Given the description of an element on the screen output the (x, y) to click on. 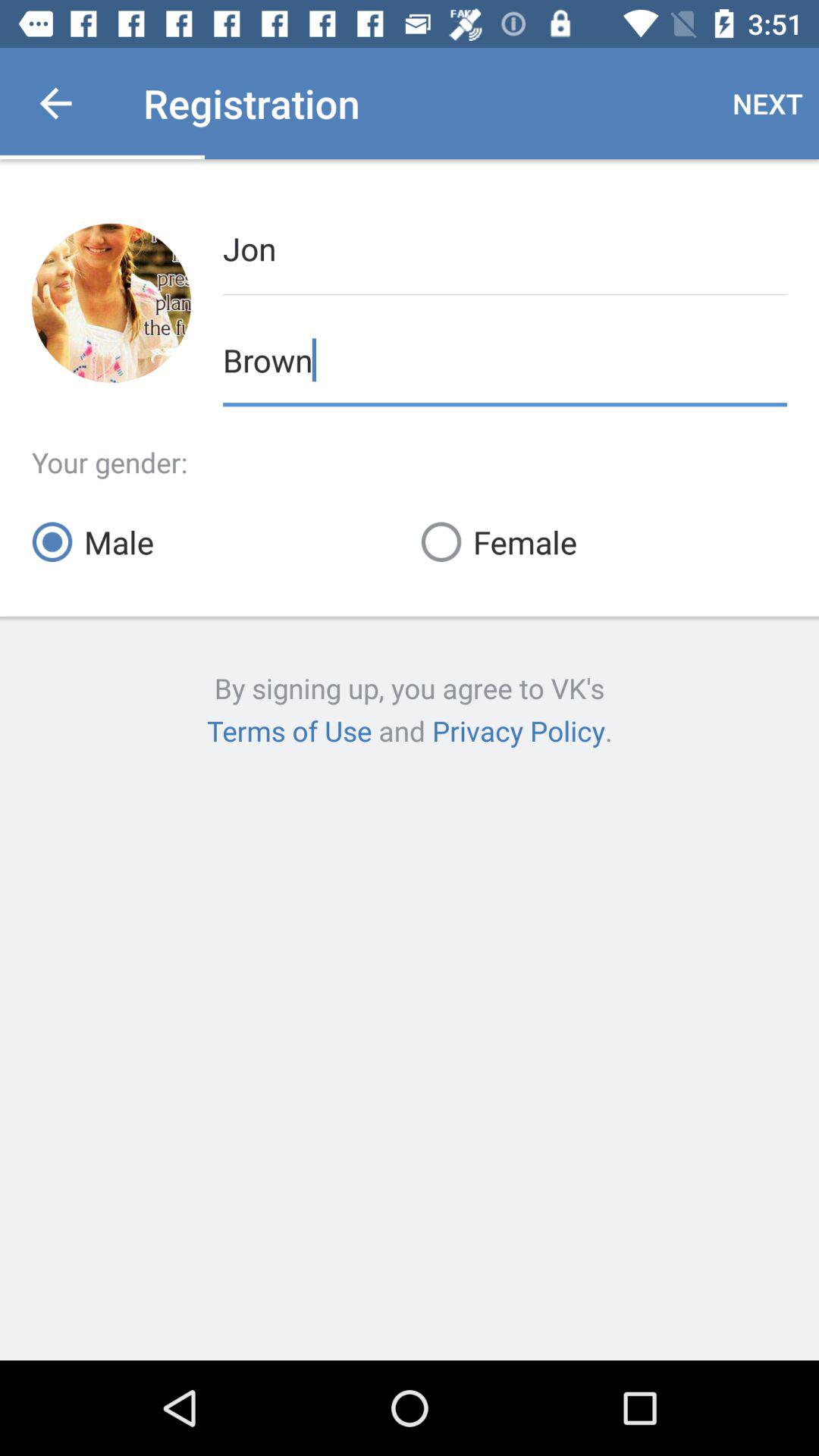
turn off the next item (767, 103)
